Given the description of an element on the screen output the (x, y) to click on. 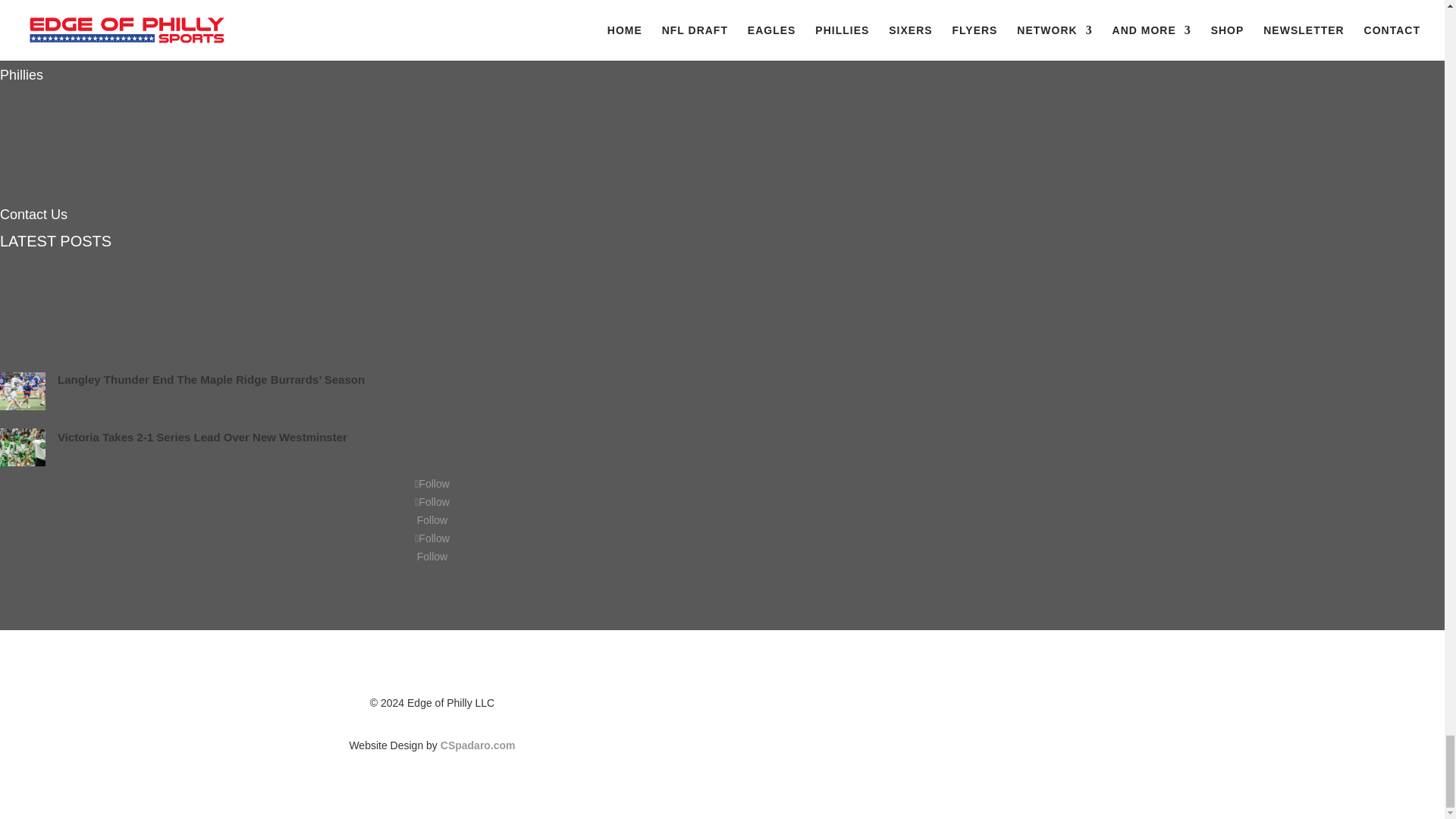
Follow on Youtube (431, 520)
Follow on Facebook (431, 483)
Follow on Twitter (431, 501)
